Given the description of an element on the screen output the (x, y) to click on. 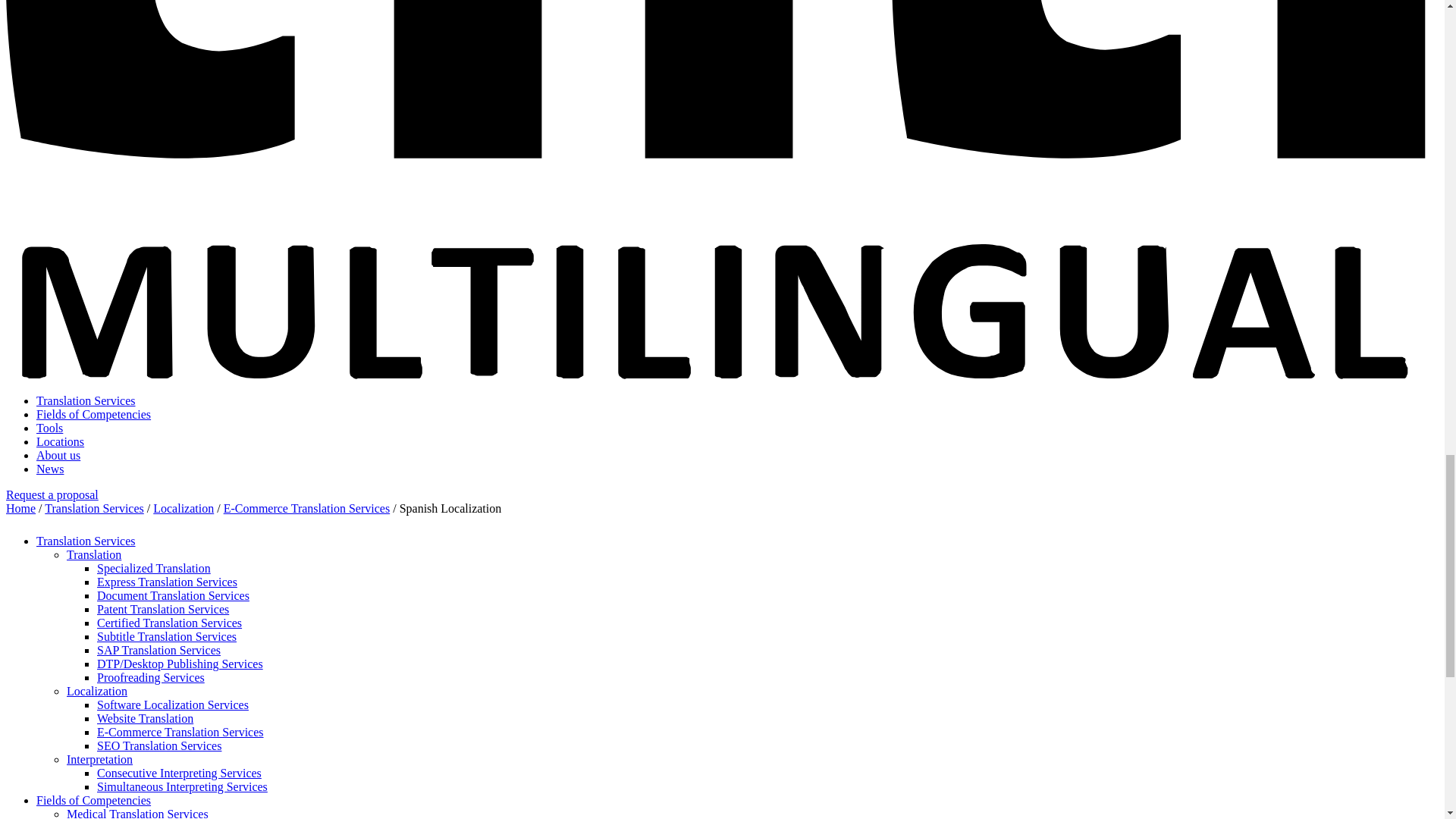
Fields of Competencies (93, 799)
Home (19, 508)
SEO Translation Services (159, 745)
Software Localization Services (172, 704)
News (50, 468)
E-Commerce Translation Services (180, 731)
Simultaneous Interpreting Services (182, 786)
Localization (183, 508)
Proofreading Services (151, 676)
Medical Translation Services (137, 813)
